Given the description of an element on the screen output the (x, y) to click on. 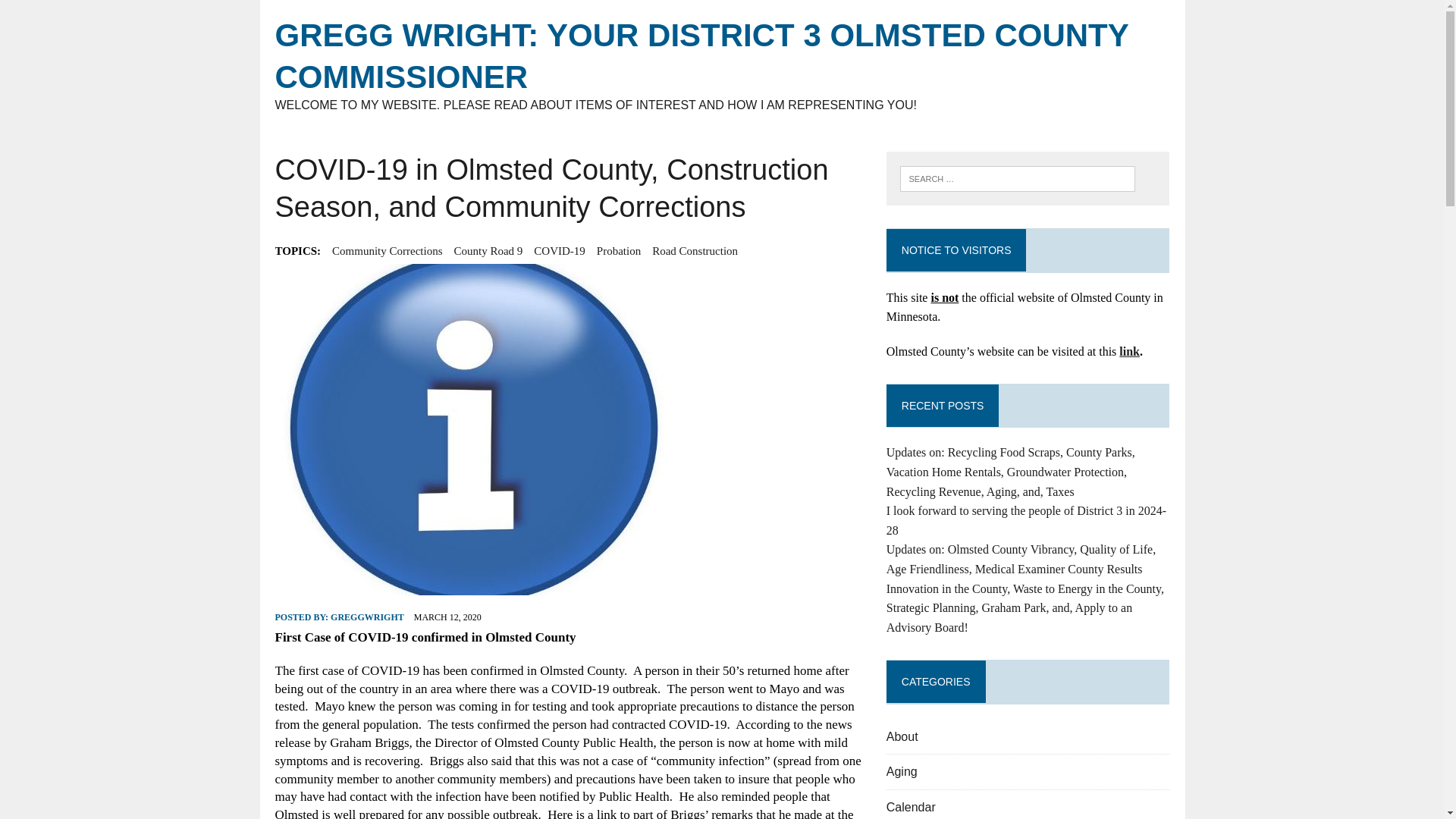
link (1129, 350)
About (902, 736)
County Road 9 (487, 250)
Aging (901, 771)
Search (75, 14)
Road Construction (695, 250)
Community Corrections (386, 250)
GREGGWRIGHT (367, 616)
